Given the description of an element on the screen output the (x, y) to click on. 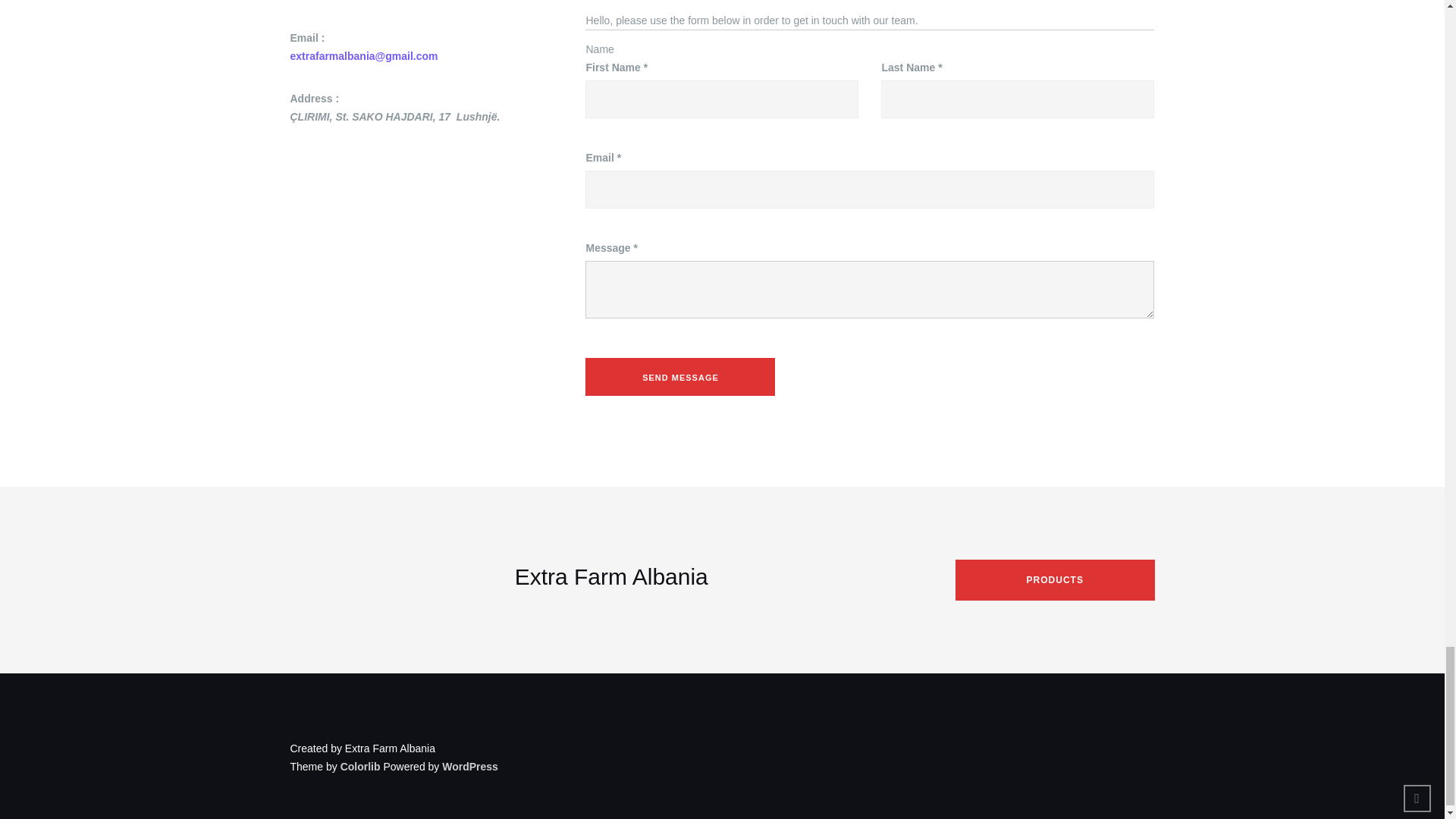
Send message (679, 376)
Colorlib (360, 766)
PRODUCTS (1054, 579)
Send message (679, 376)
WordPress.org (469, 766)
WordPress (469, 766)
Colorlib (360, 766)
